Given the description of an element on the screen output the (x, y) to click on. 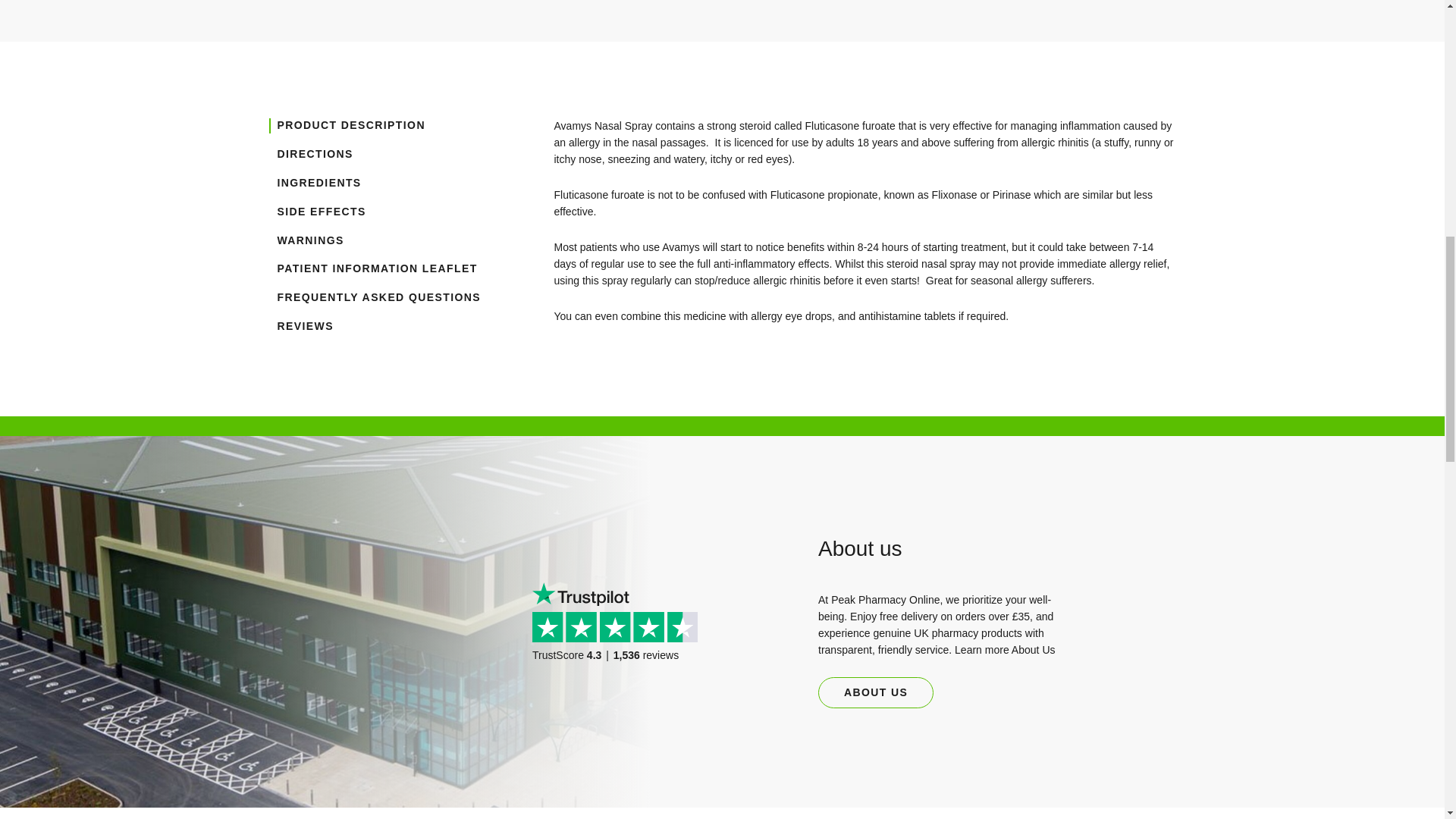
Customer reviews powered by Trustpilot (620, 645)
